Given the description of an element on the screen output the (x, y) to click on. 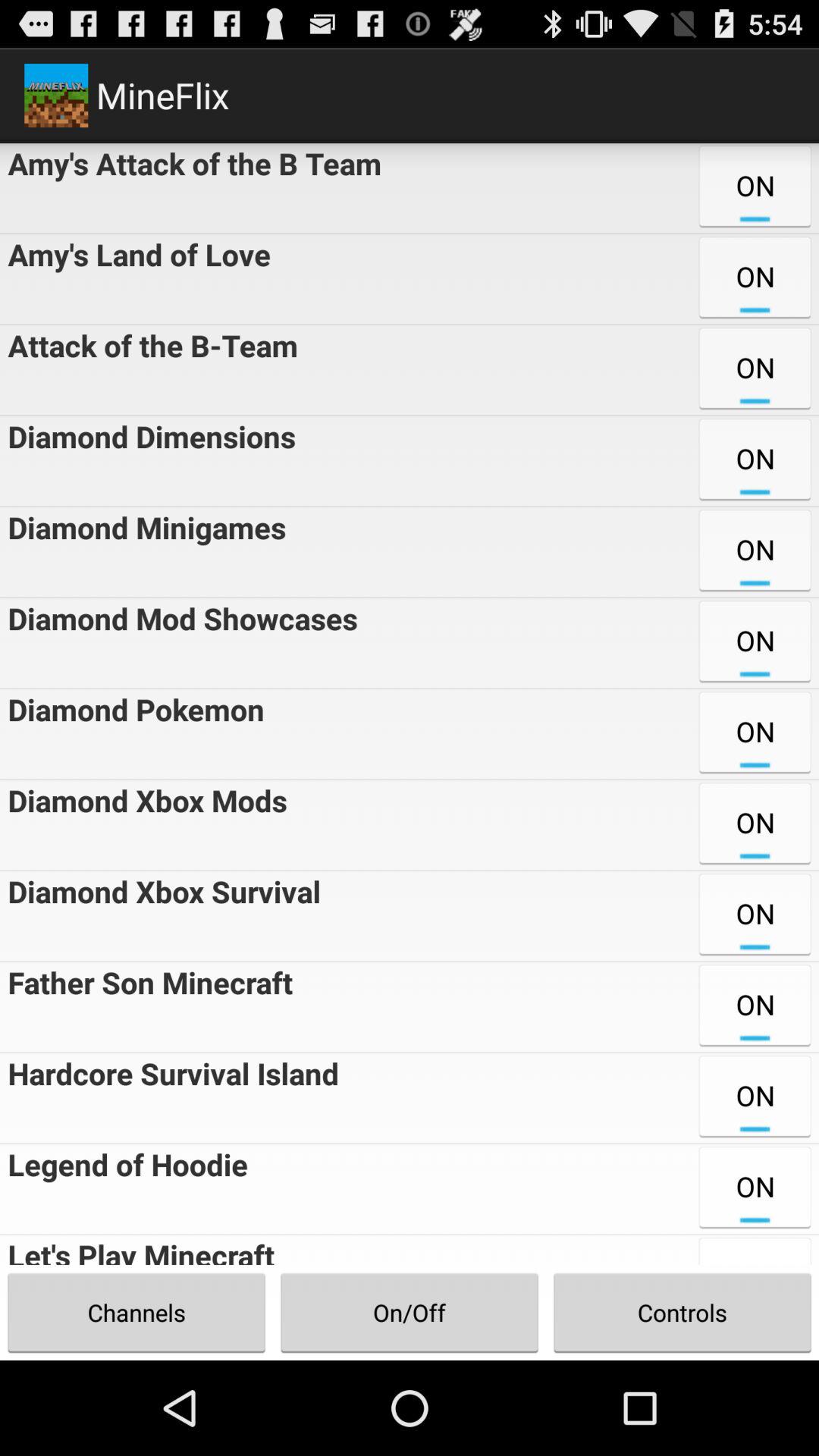
turn on item above let s play item (123, 1189)
